Given the description of an element on the screen output the (x, y) to click on. 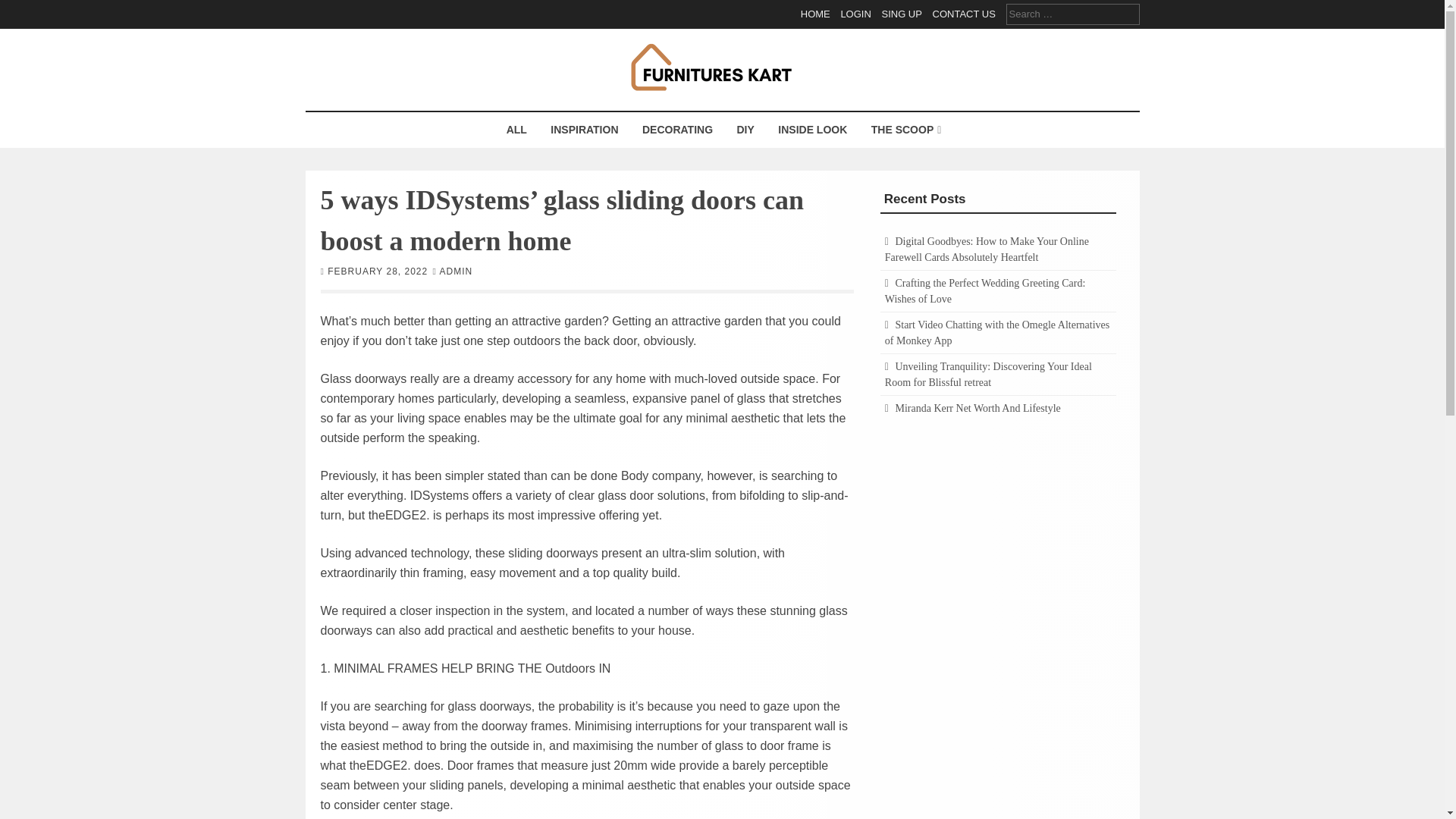
DIY (744, 130)
Crafting the Perfect Wedding Greeting Card: Wishes of Love (985, 290)
DECORATING (676, 130)
INSPIRATION (583, 130)
LOGIN (855, 13)
INSIDE LOOK (812, 130)
Miranda Kerr Net Worth And Lifestyle (977, 408)
HOME (814, 13)
CONTACT US (964, 13)
SING UP (900, 13)
FEBRUARY 28, 2022 (377, 270)
ALL (516, 130)
THE SCOOP (904, 130)
